Given the description of an element on the screen output the (x, y) to click on. 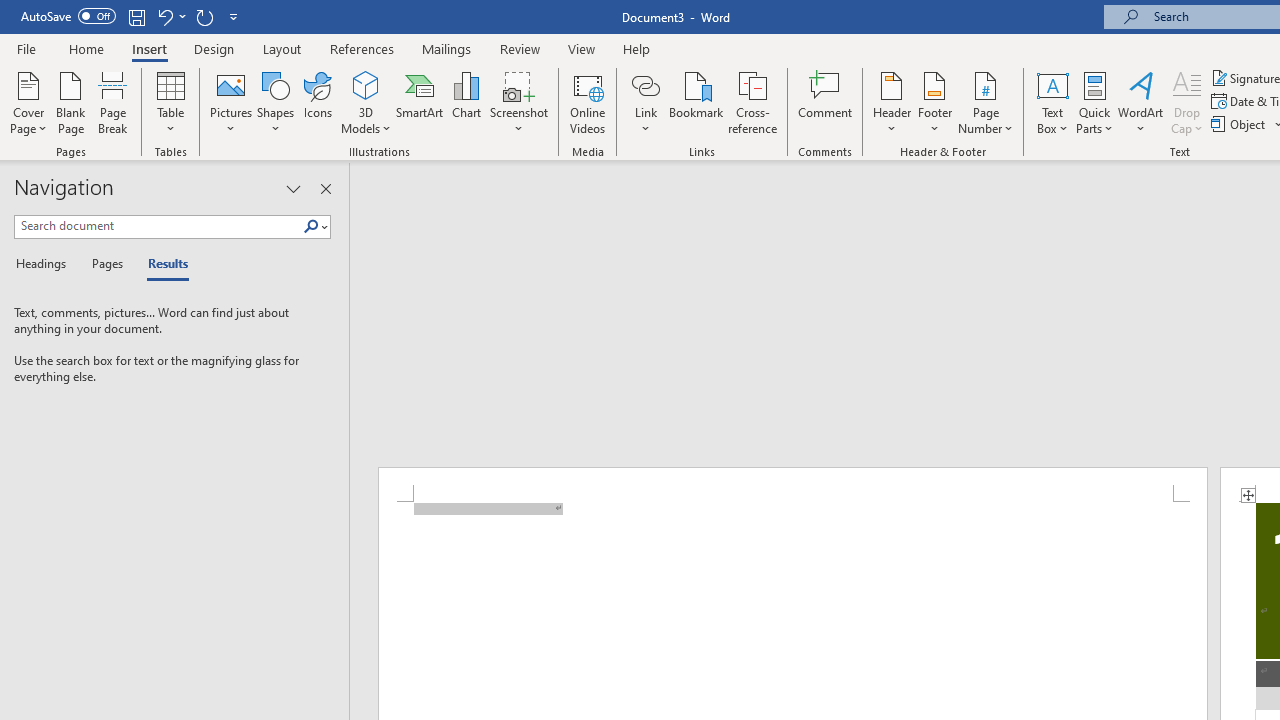
Cross-reference... (752, 102)
Pictures (230, 102)
Blank Page (70, 102)
Undo New Page (164, 15)
Footer (934, 102)
References (362, 48)
Table (170, 102)
Page Break (113, 102)
Object... (1240, 124)
Layout (282, 48)
Screenshot (518, 102)
Review (520, 48)
